Given the description of an element on the screen output the (x, y) to click on. 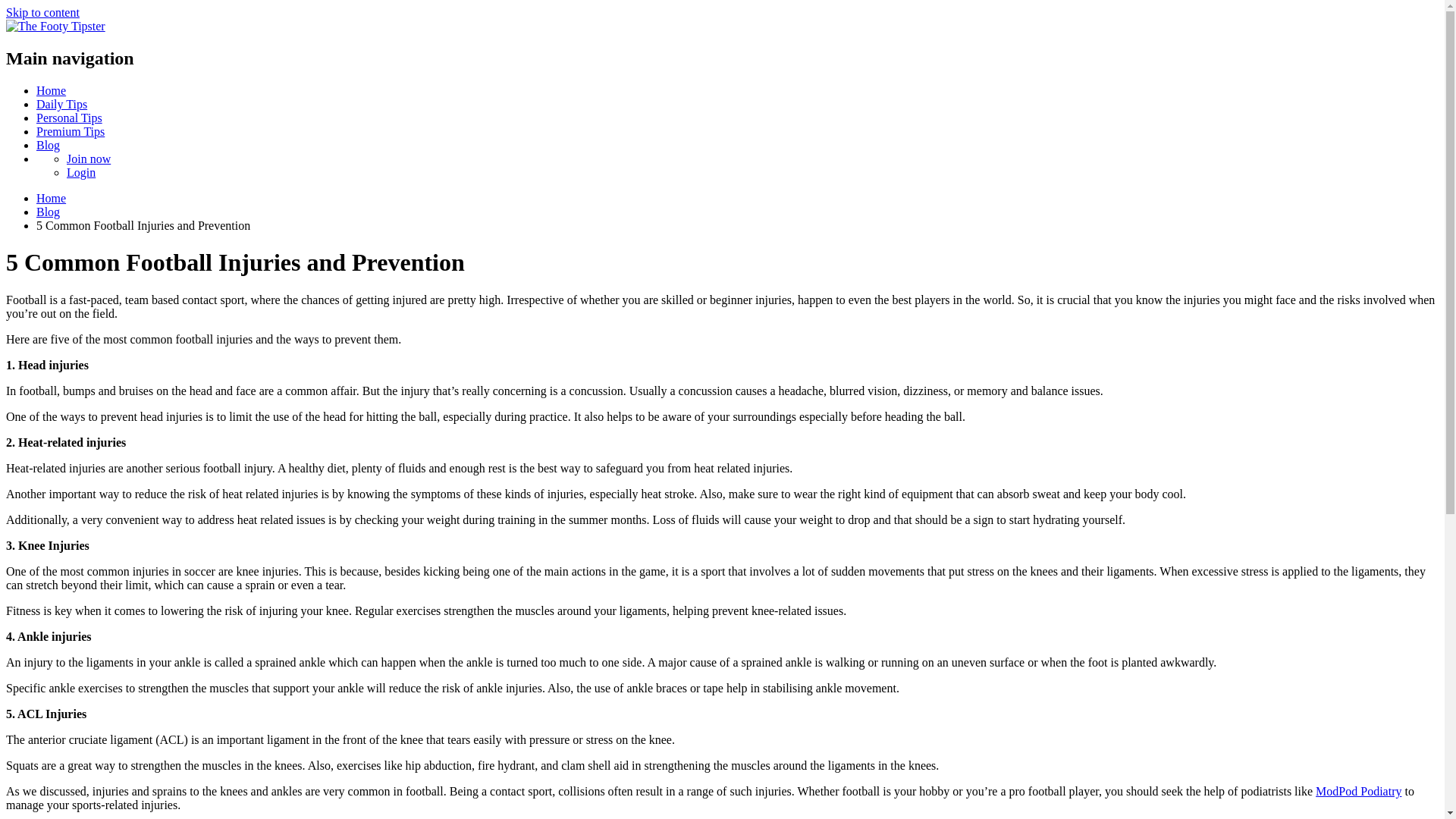
Blog (47, 144)
Home (50, 197)
Skip to content (42, 11)
ModPod Podiatry (1358, 790)
Blog (47, 211)
Join now (88, 158)
Personal Tips (68, 117)
Daily Tips (61, 103)
Premium Tips (70, 131)
Home (50, 90)
